Given the description of an element on the screen output the (x, y) to click on. 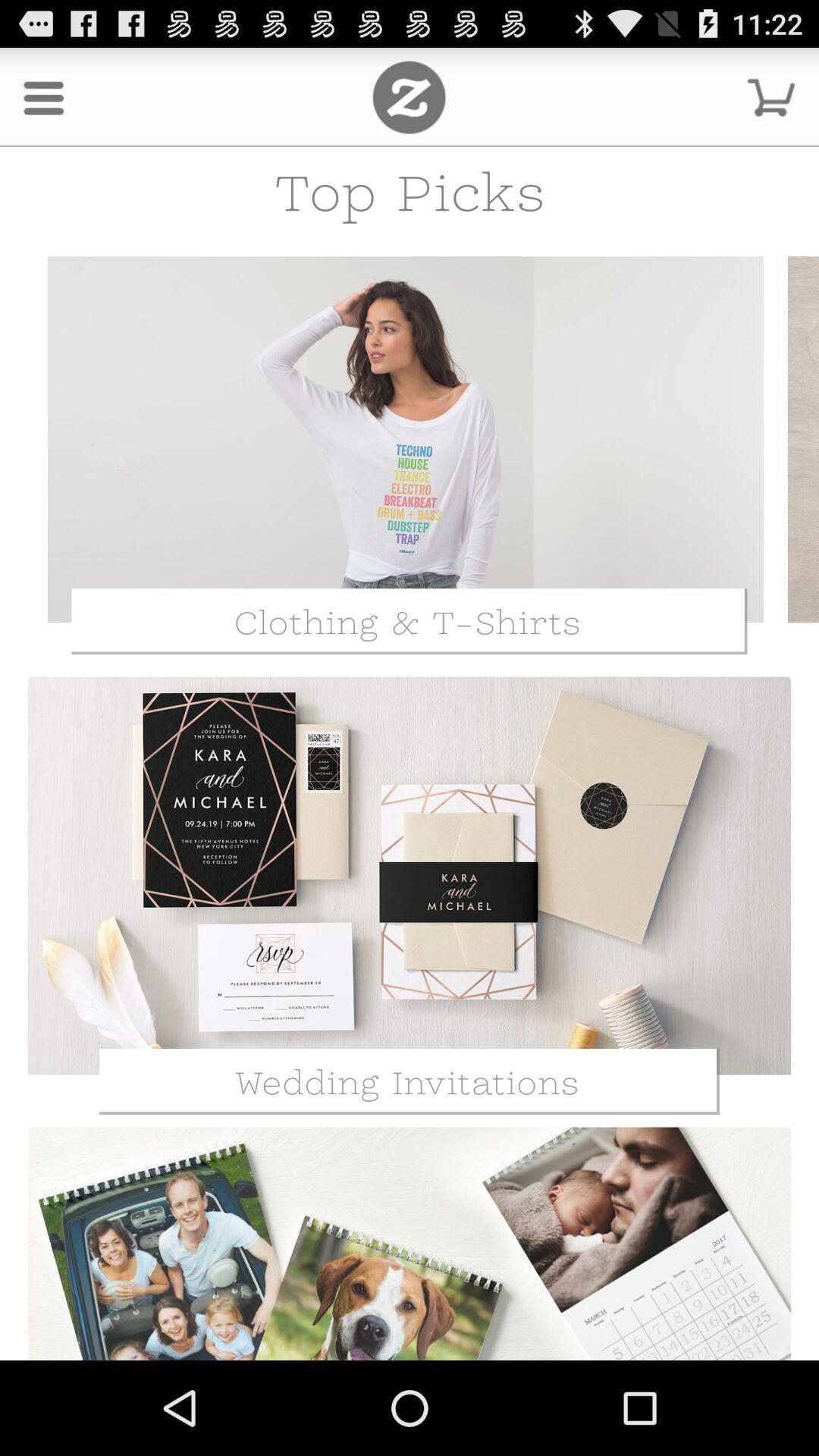
open clothing t-shirts (405, 439)
